Given the description of an element on the screen output the (x, y) to click on. 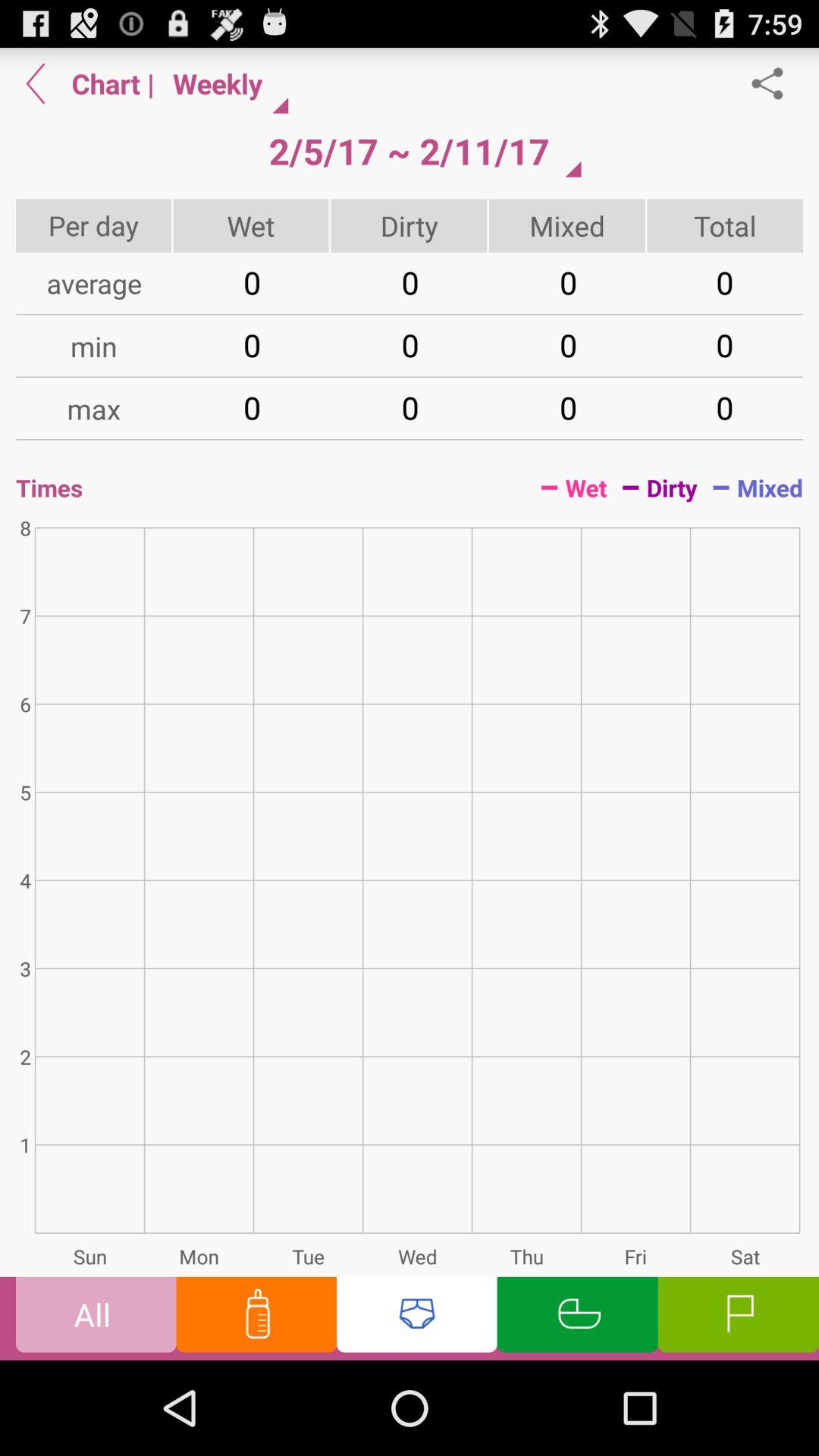
go back (35, 83)
